Given the description of an element on the screen output the (x, y) to click on. 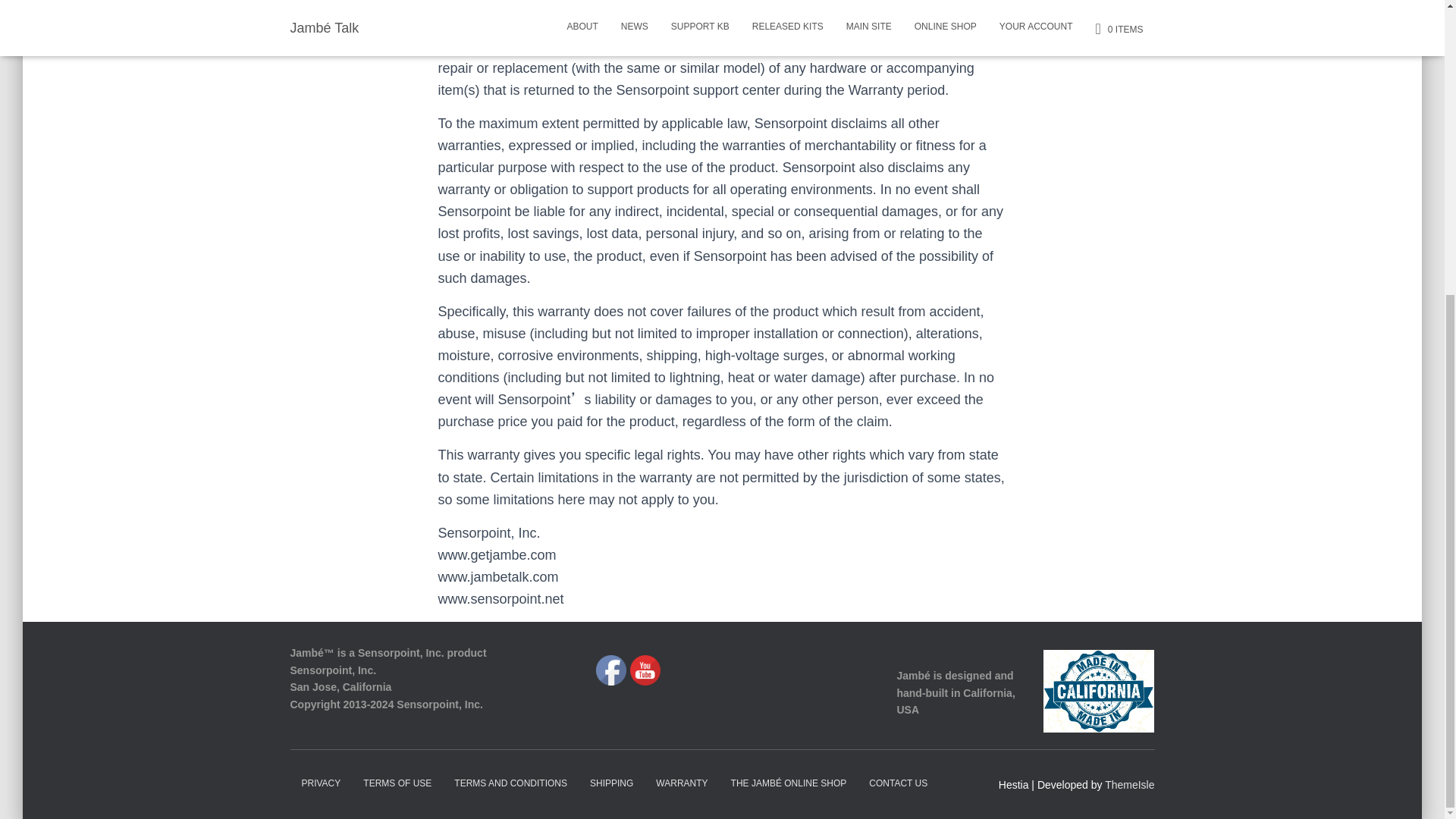
TERMS OF USE (397, 783)
YouTube (645, 670)
CONTACT US (898, 783)
Facebook (610, 670)
TERMS AND CONDITIONS (510, 783)
WARRANTY (682, 783)
ThemeIsle (1129, 784)
PRIVACY (320, 783)
SHIPPING (611, 783)
